Given the description of an element on the screen output the (x, y) to click on. 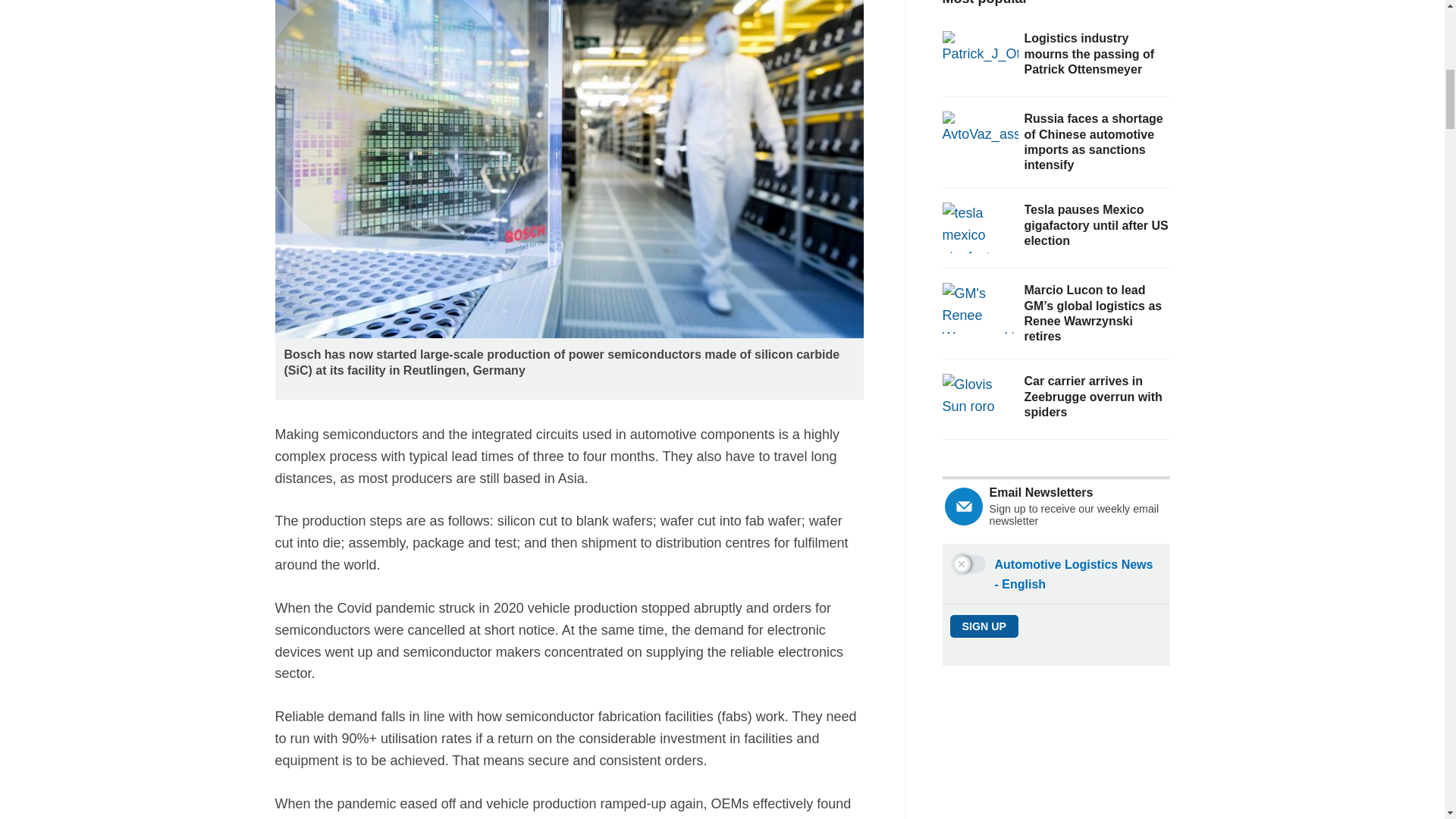
3rd party ad content (1055, 760)
